Given the description of an element on the screen output the (x, y) to click on. 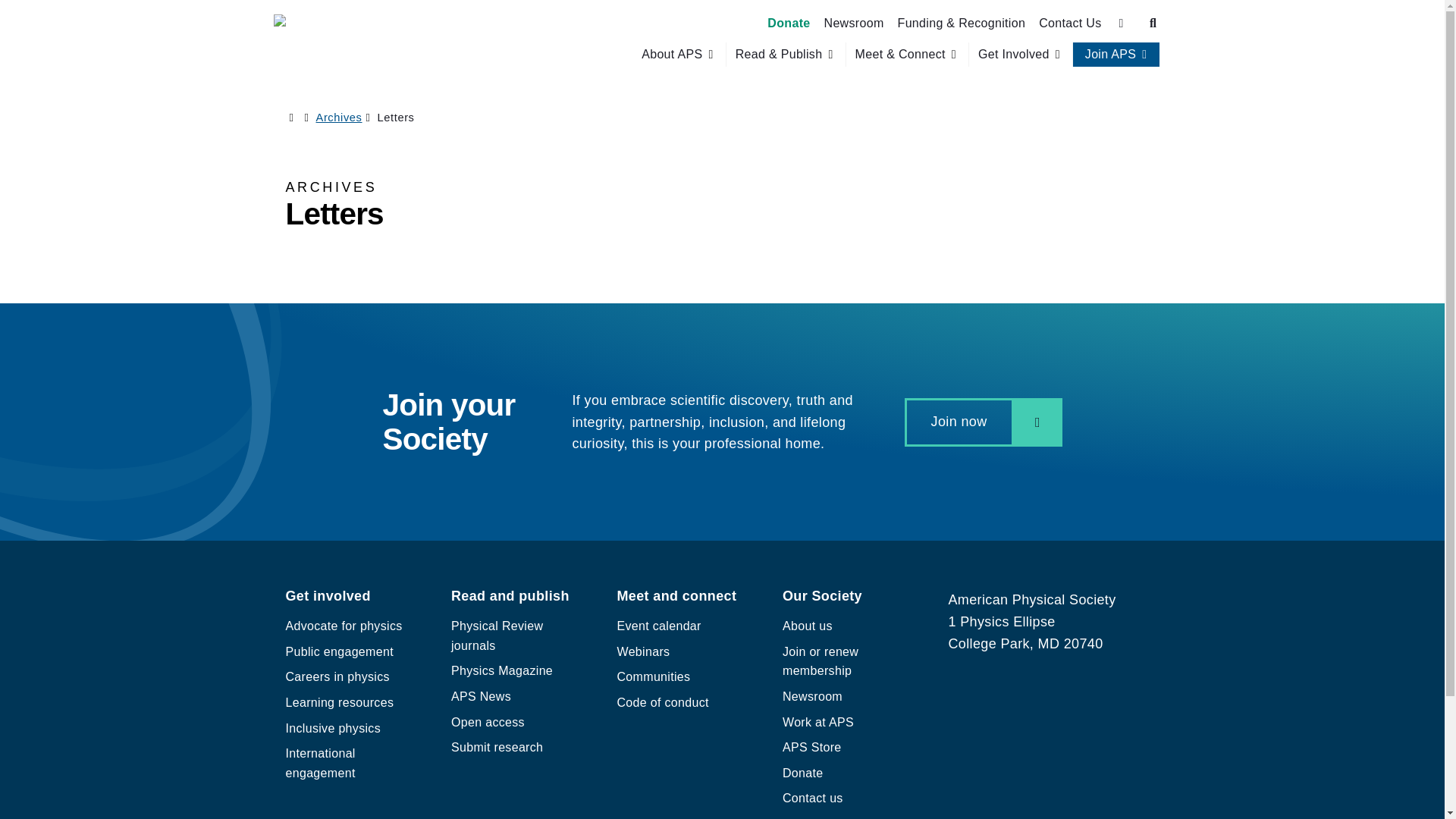
View About APS options (679, 54)
About APS (671, 54)
